Given the description of an element on the screen output the (x, y) to click on. 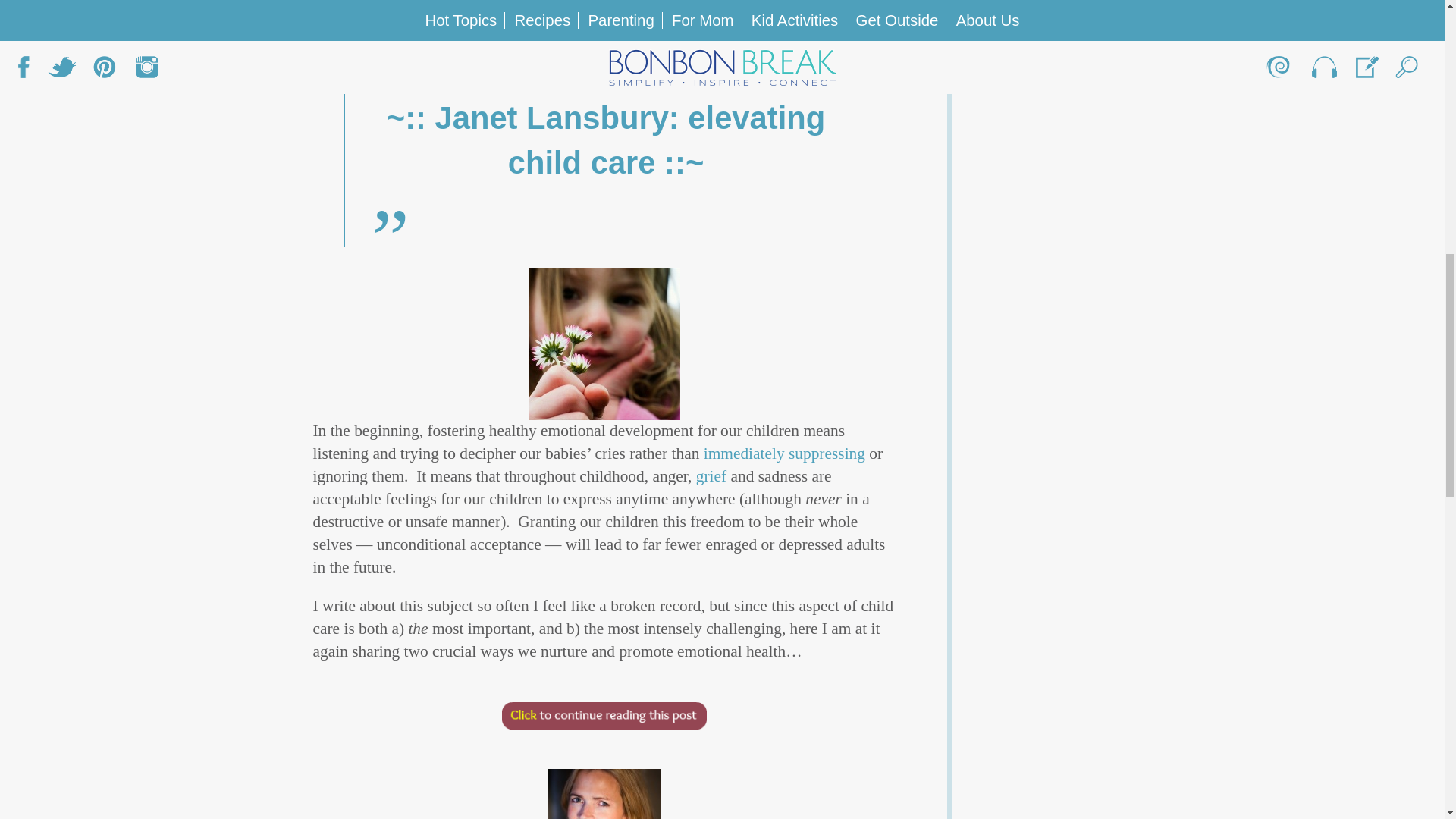
grief (712, 475)
No Angry Kids: Fostering Emotional Literacy in Our Children (605, 35)
No Angry Kids: Fostering Emotional Literacy in Our Children (603, 344)
immediately suppressing (783, 453)
click (604, 715)
